Given the description of an element on the screen output the (x, y) to click on. 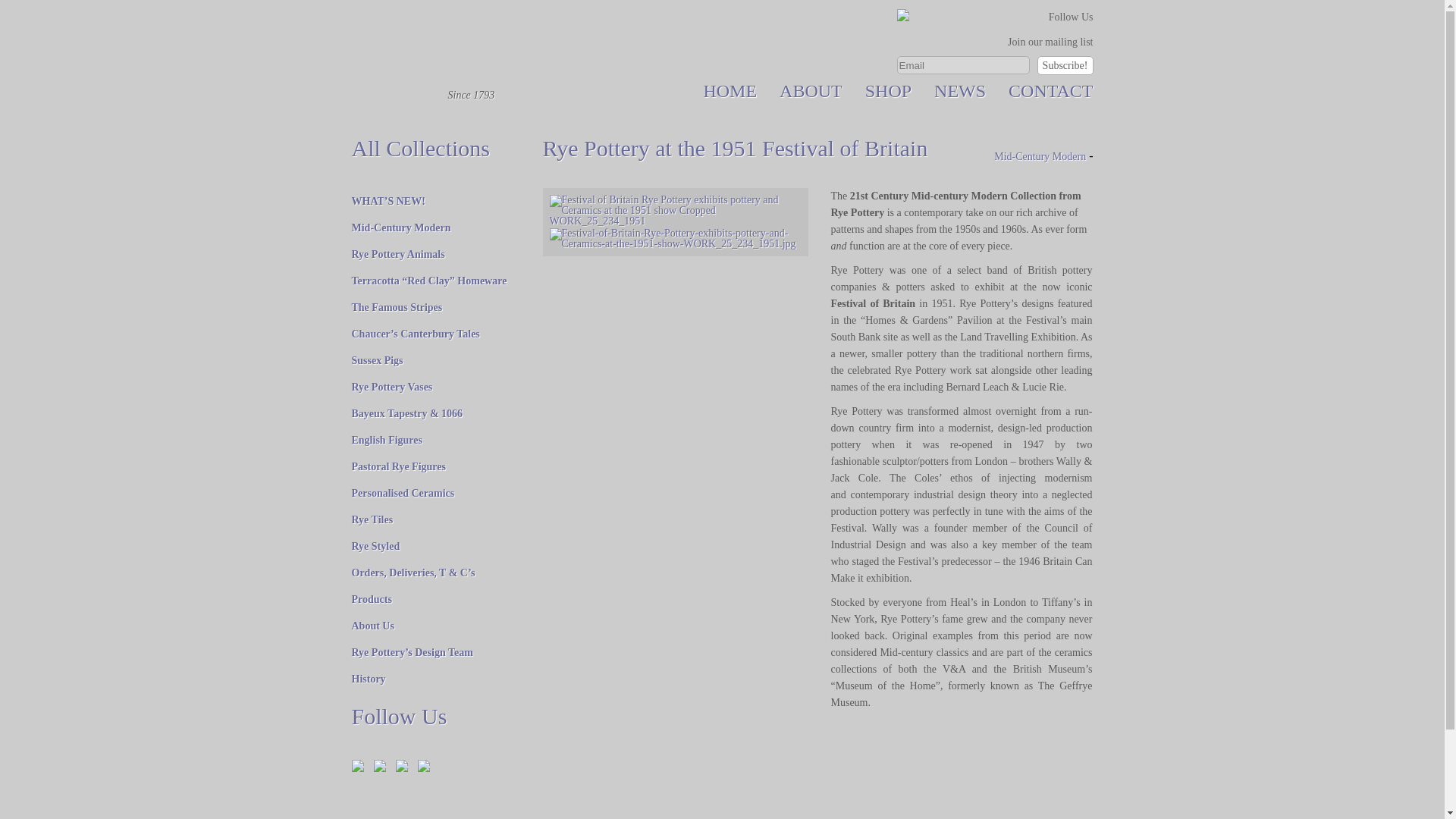
History (368, 678)
Share by email (422, 766)
Rye Pottery Animals (398, 254)
Personalised Ceramics (403, 492)
SHOP (887, 90)
Share on Facebook (358, 766)
CONTACT (1051, 90)
Email (962, 65)
Rye Tiles (372, 519)
ABOUT (810, 90)
